Given the description of an element on the screen output the (x, y) to click on. 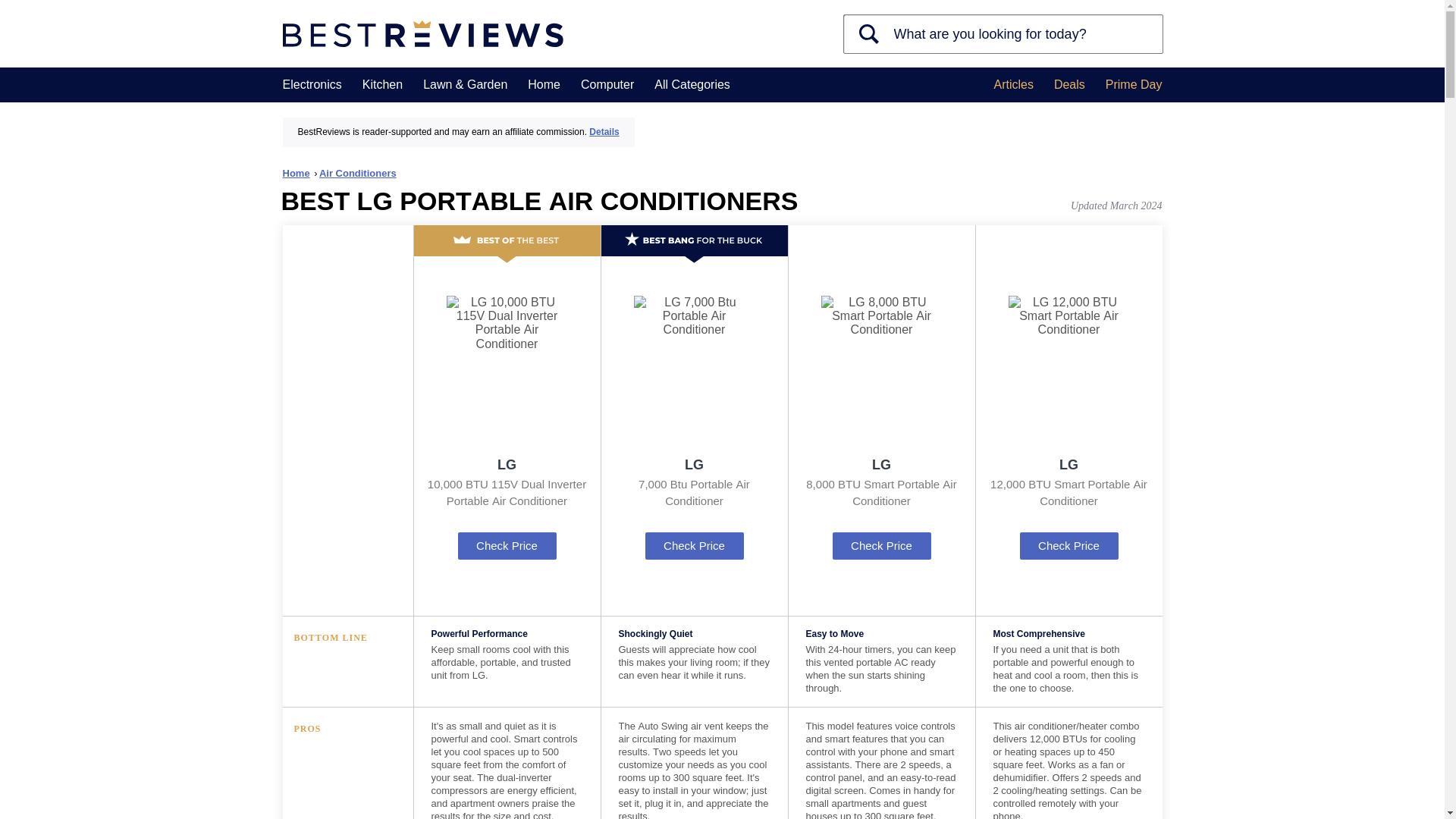
Computer (606, 84)
Deals (1069, 84)
Air Conditioners (357, 173)
BestReviews Branding Logo (422, 34)
Home (543, 84)
Prime Day (1133, 84)
Details (603, 131)
All Categories (691, 84)
Electronics (311, 84)
Articles (1012, 84)
Kitchen (382, 84)
Home (298, 173)
